Given the description of an element on the screen output the (x, y) to click on. 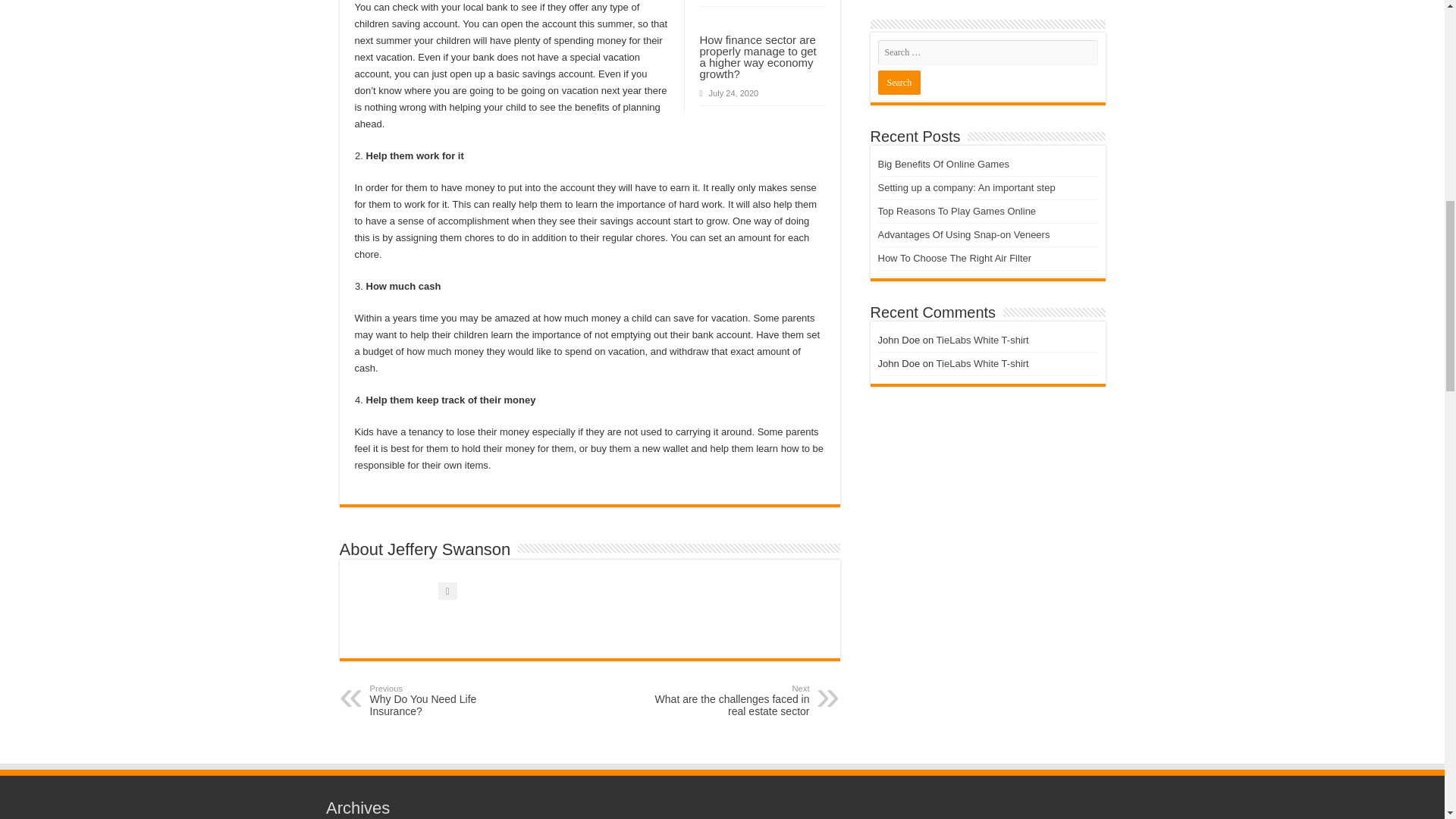
Search (899, 82)
Search (899, 82)
